Given the description of an element on the screen output the (x, y) to click on. 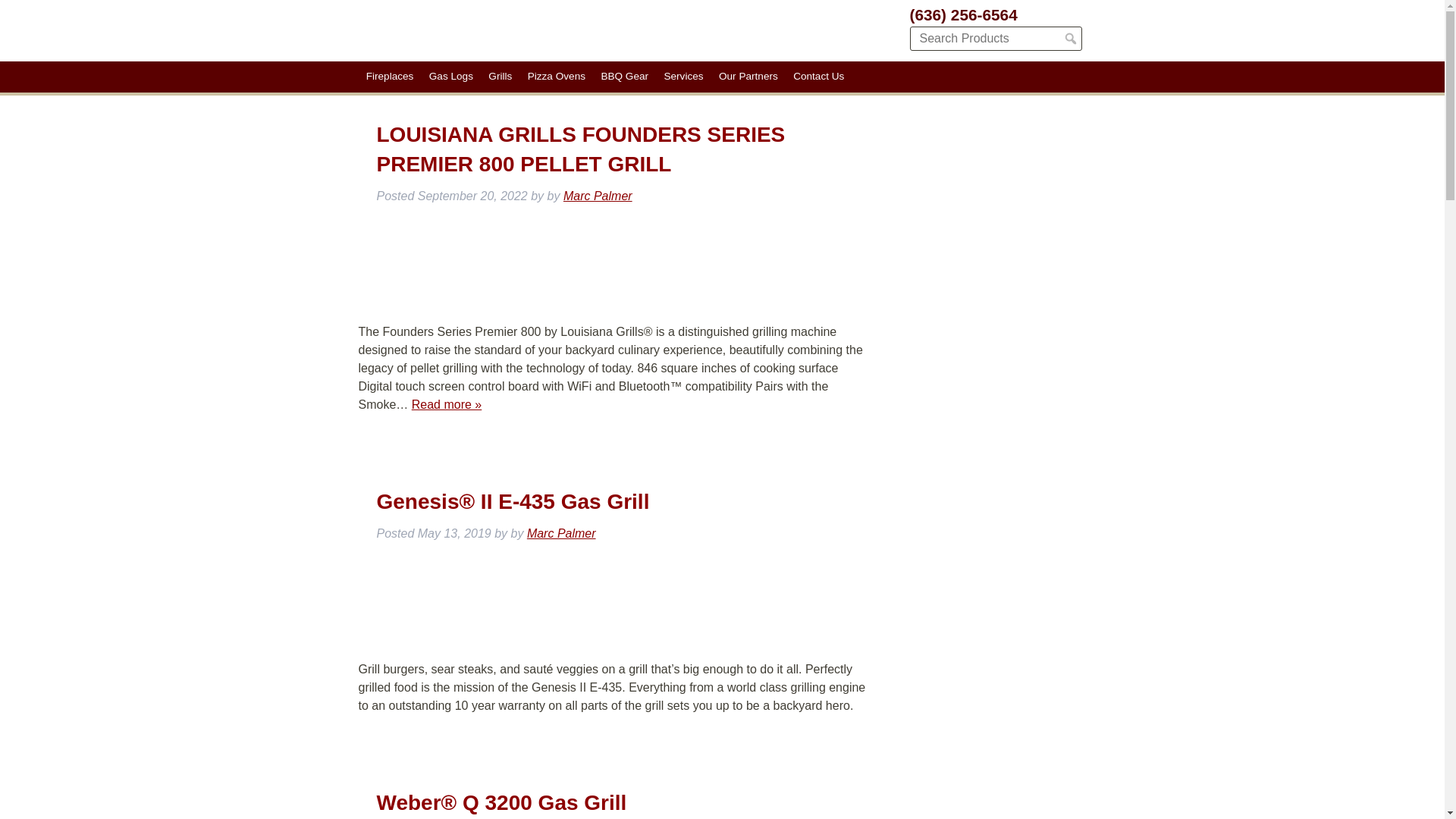
LOUISIANA GRILLS FOUNDERS SERIES PREMIER 800 PELLET GRILL (579, 149)
Fireplaces (389, 76)
BBQ Gear (624, 76)
Marc Palmer (561, 533)
Search for: (995, 38)
Our Partners (748, 76)
Gas Logs (451, 76)
LOUISIANA GRILLS FOUNDERS SERIES PREMIER 800 PELLET GRILL (579, 149)
Marc Palmer (597, 195)
Pizza Ovens (556, 76)
Contact Us (818, 76)
Grills (499, 76)
Services (683, 76)
